Given the description of an element on the screen output the (x, y) to click on. 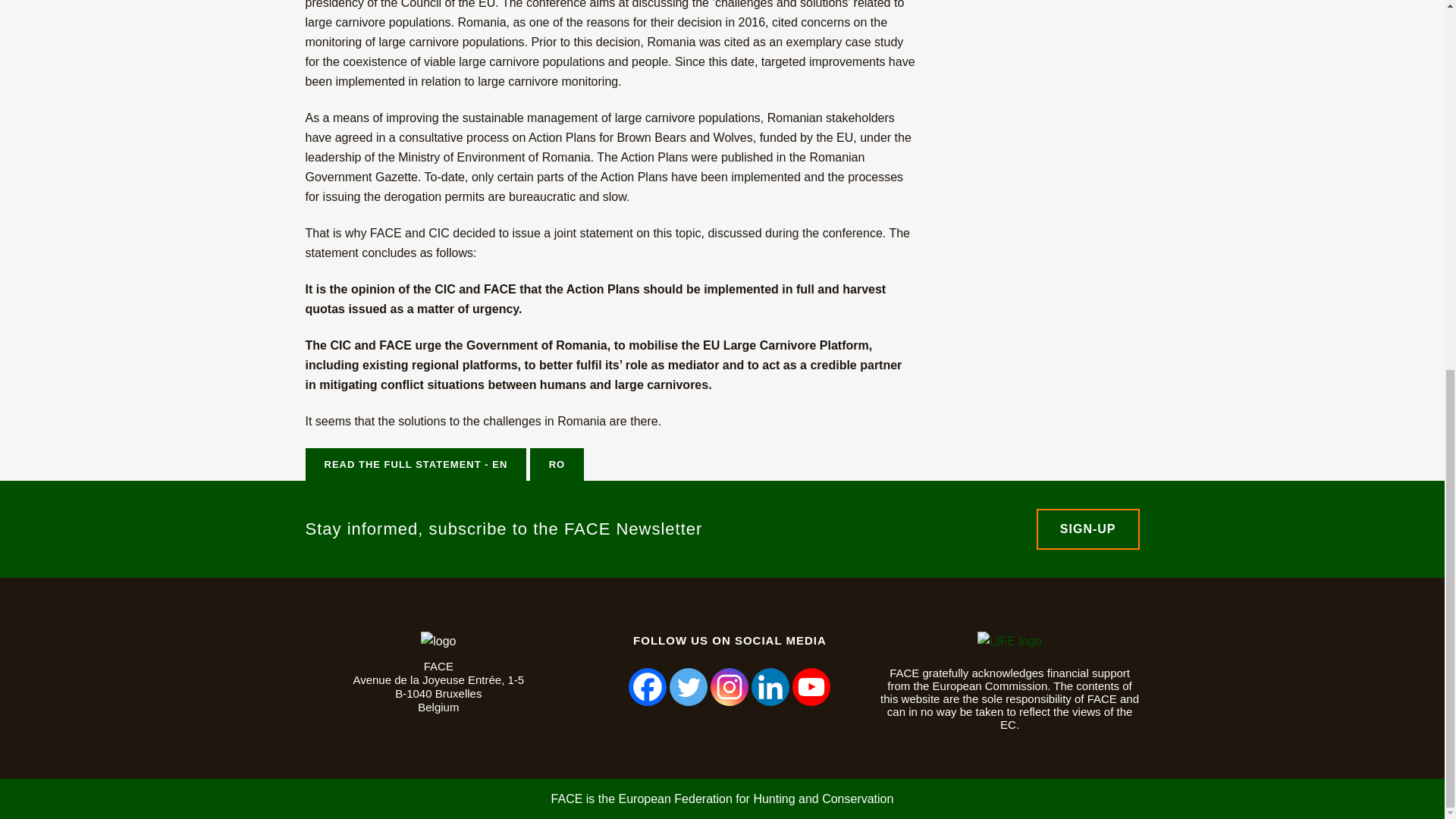
Linkedin (770, 686)
Instagram (729, 686)
Twitter (688, 686)
Youtube Channel (810, 686)
Facebook (647, 686)
